Given the description of an element on the screen output the (x, y) to click on. 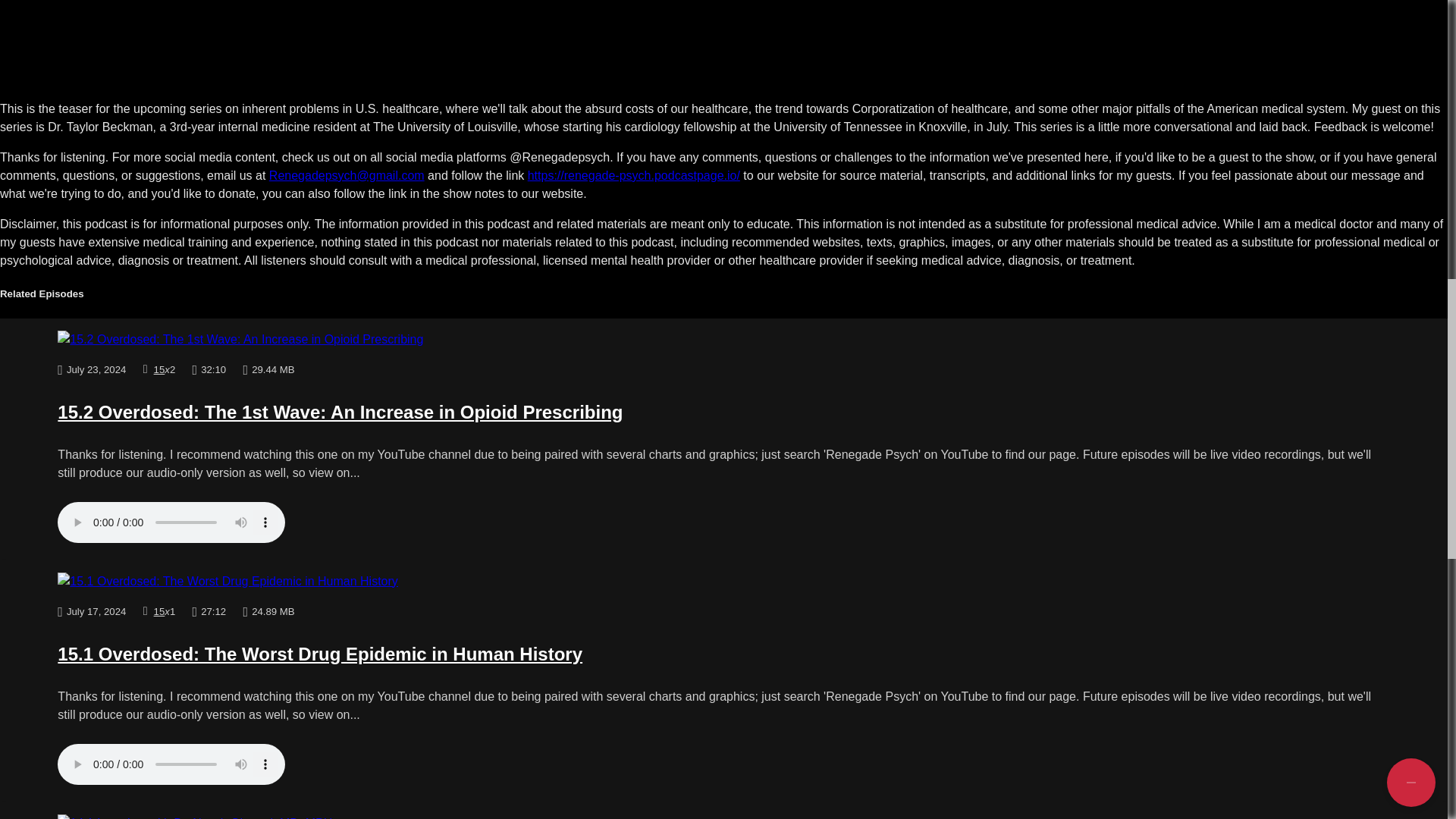
Episode Weight (269, 368)
15 (159, 369)
15.1 Overdosed: The Worst Drug Epidemic in Human History (723, 581)
Date (91, 368)
15 (159, 611)
15.1 Overdosed: The Worst Drug Epidemic in Human History (320, 653)
Episode Duration (209, 368)
